Given the description of an element on the screen output the (x, y) to click on. 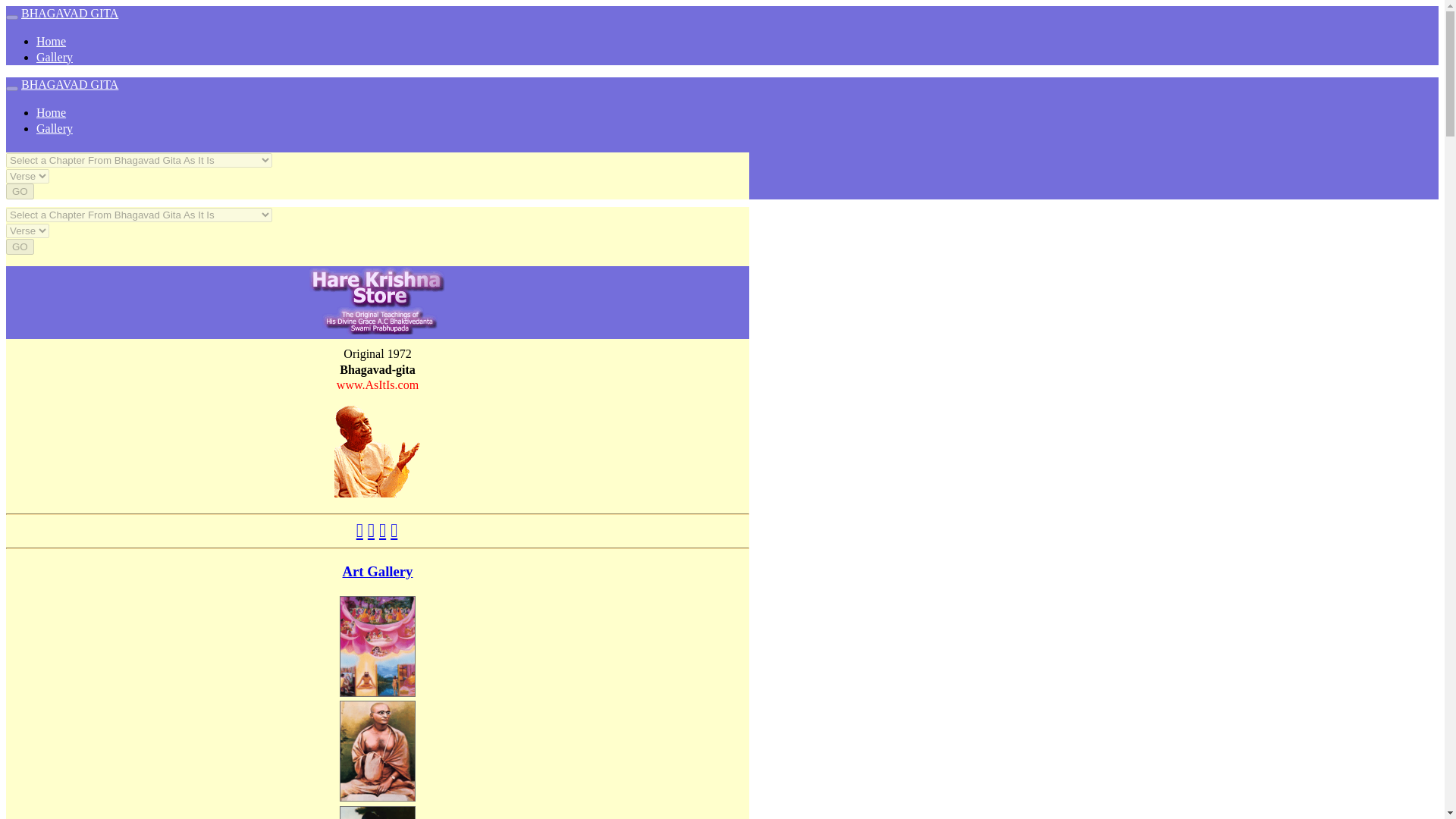
Toggle navigation (11, 88)
Gallery (54, 56)
Toggle navigation (11, 17)
BHAGAVAD GITA (69, 83)
Gallery (54, 128)
BHAGAVAD GITA (69, 12)
Art Gallery (377, 571)
GO (19, 246)
Home (50, 41)
GO (19, 191)
